Given the description of an element on the screen output the (x, y) to click on. 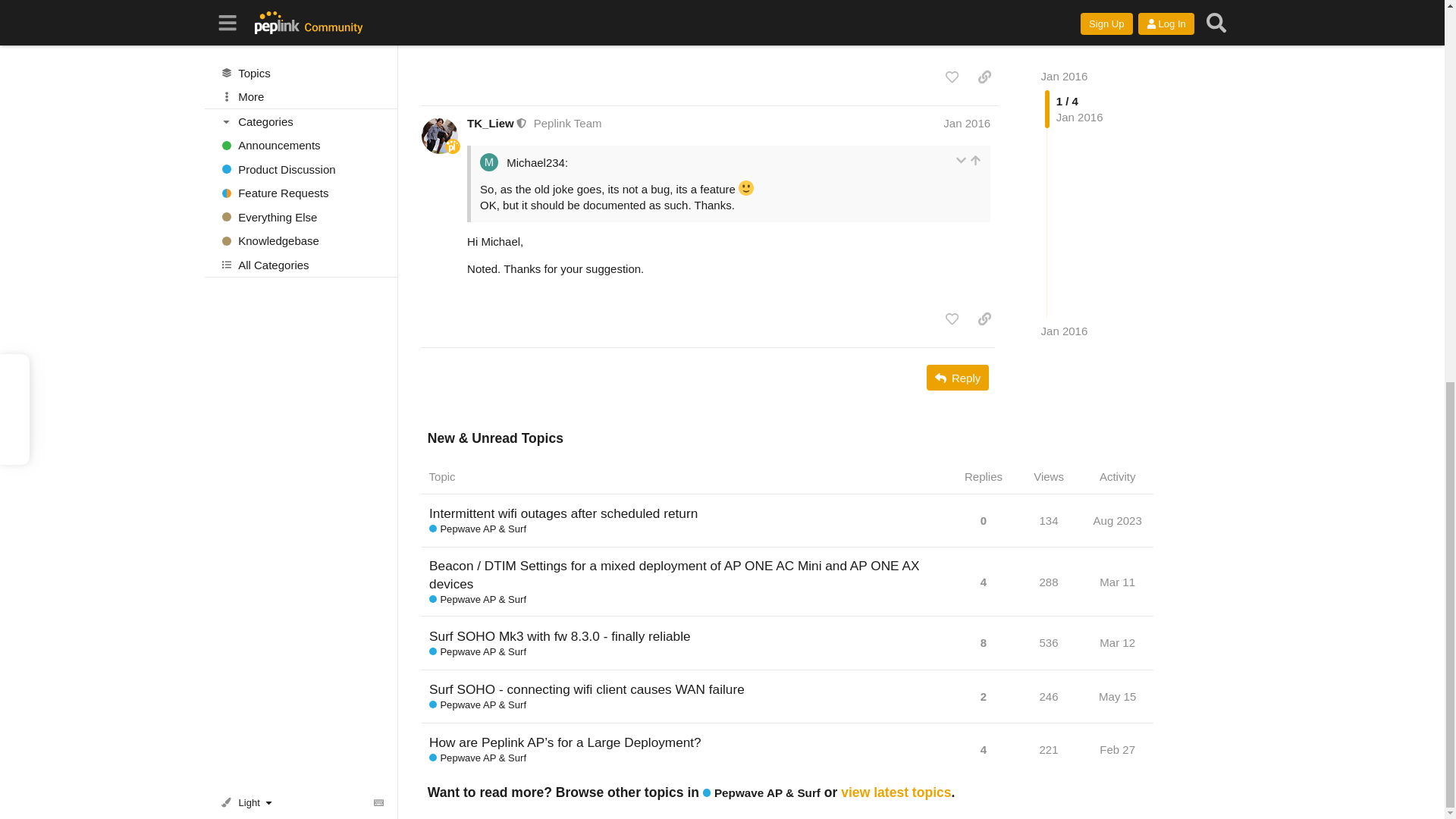
Light (249, 89)
Keyboard Shortcuts (378, 88)
